Given the description of an element on the screen output the (x, y) to click on. 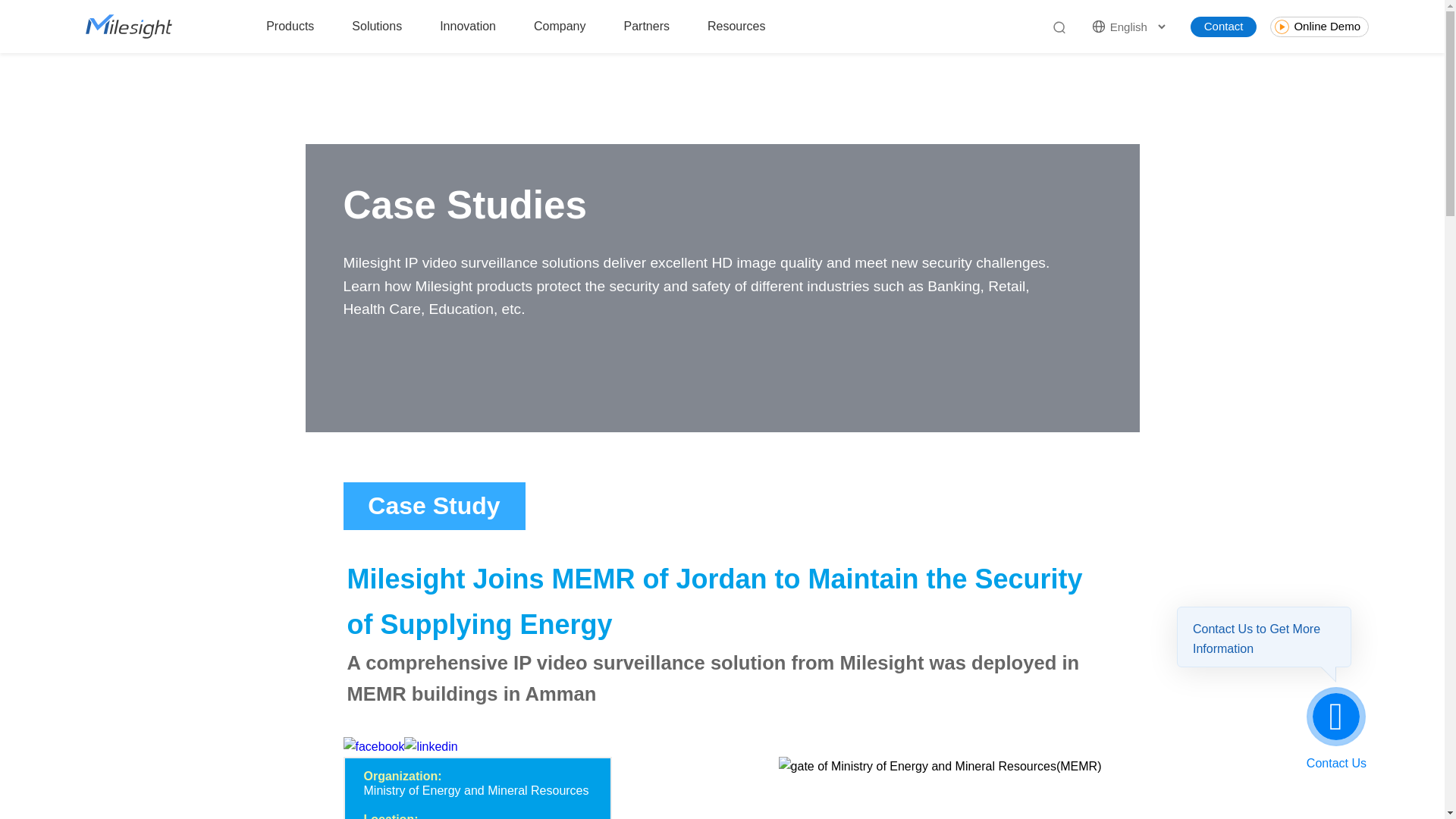
facebook (373, 746)
lin (430, 746)
Contact (1224, 26)
Online Demo (1318, 26)
1 (940, 766)
